Given the description of an element on the screen output the (x, y) to click on. 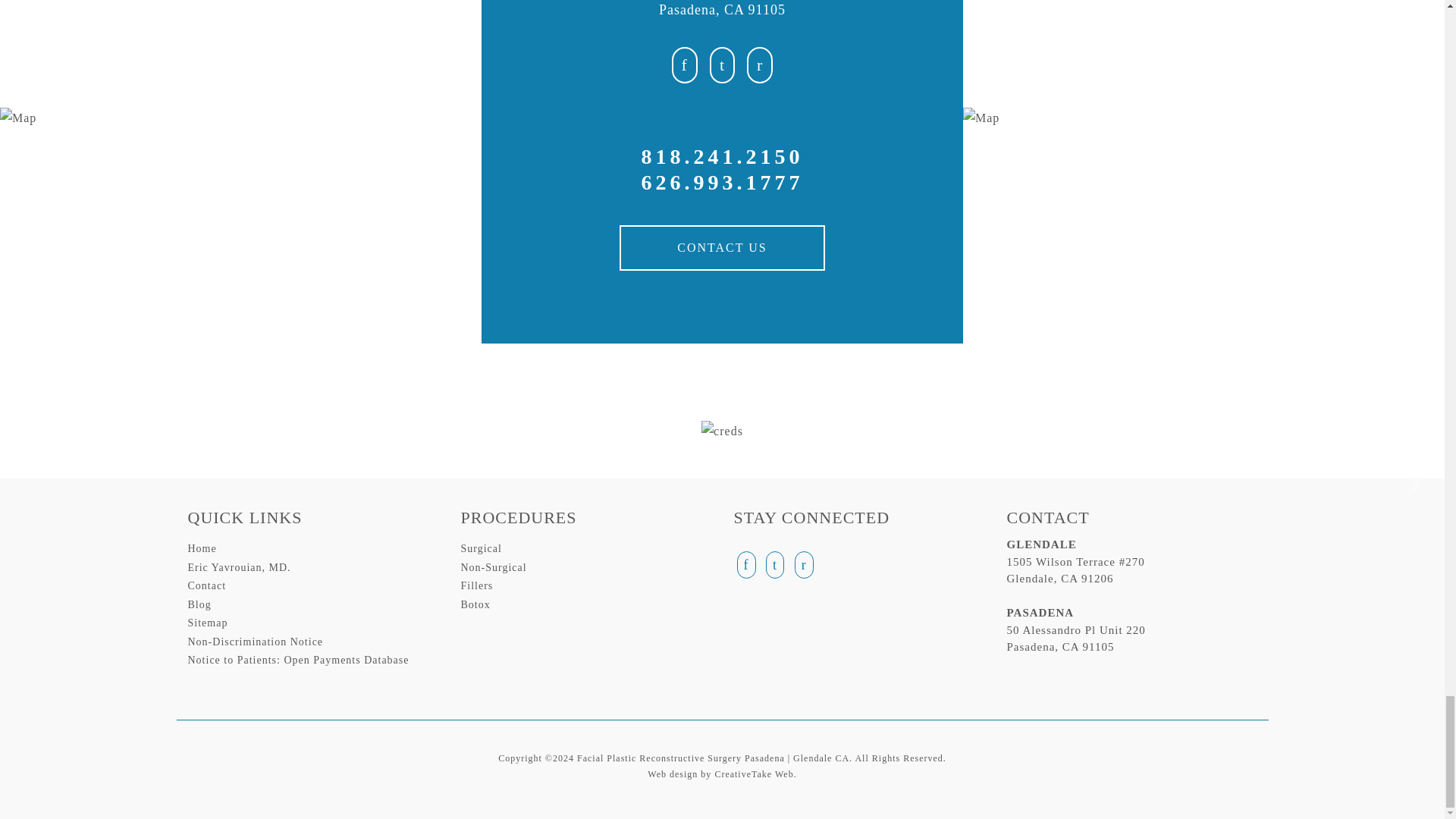
CreativeTake Medical (755, 774)
